Given the description of an element on the screen output the (x, y) to click on. 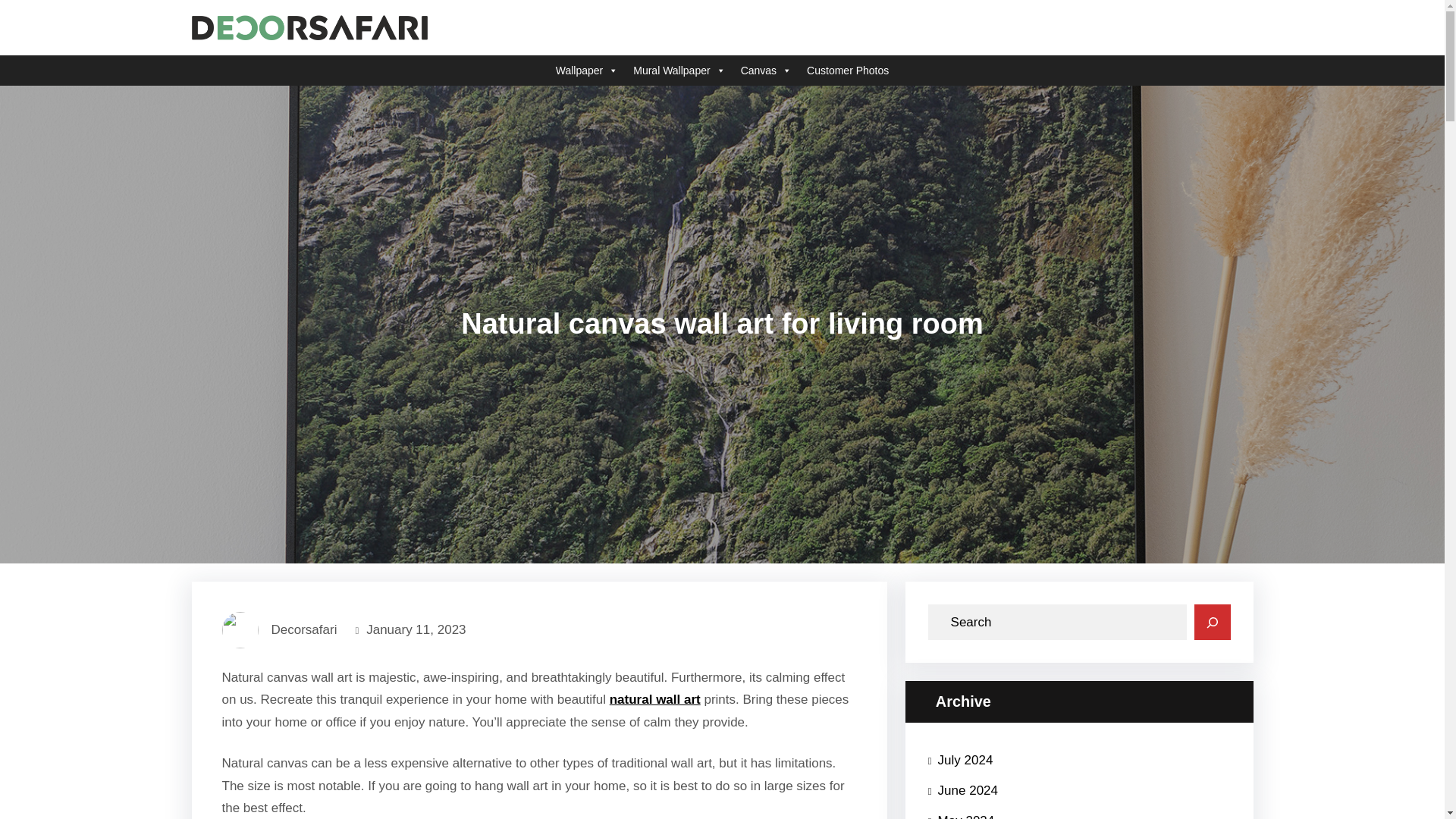
Wallpaper (587, 70)
Mural Wallpaper (679, 70)
